Given the description of an element on the screen output the (x, y) to click on. 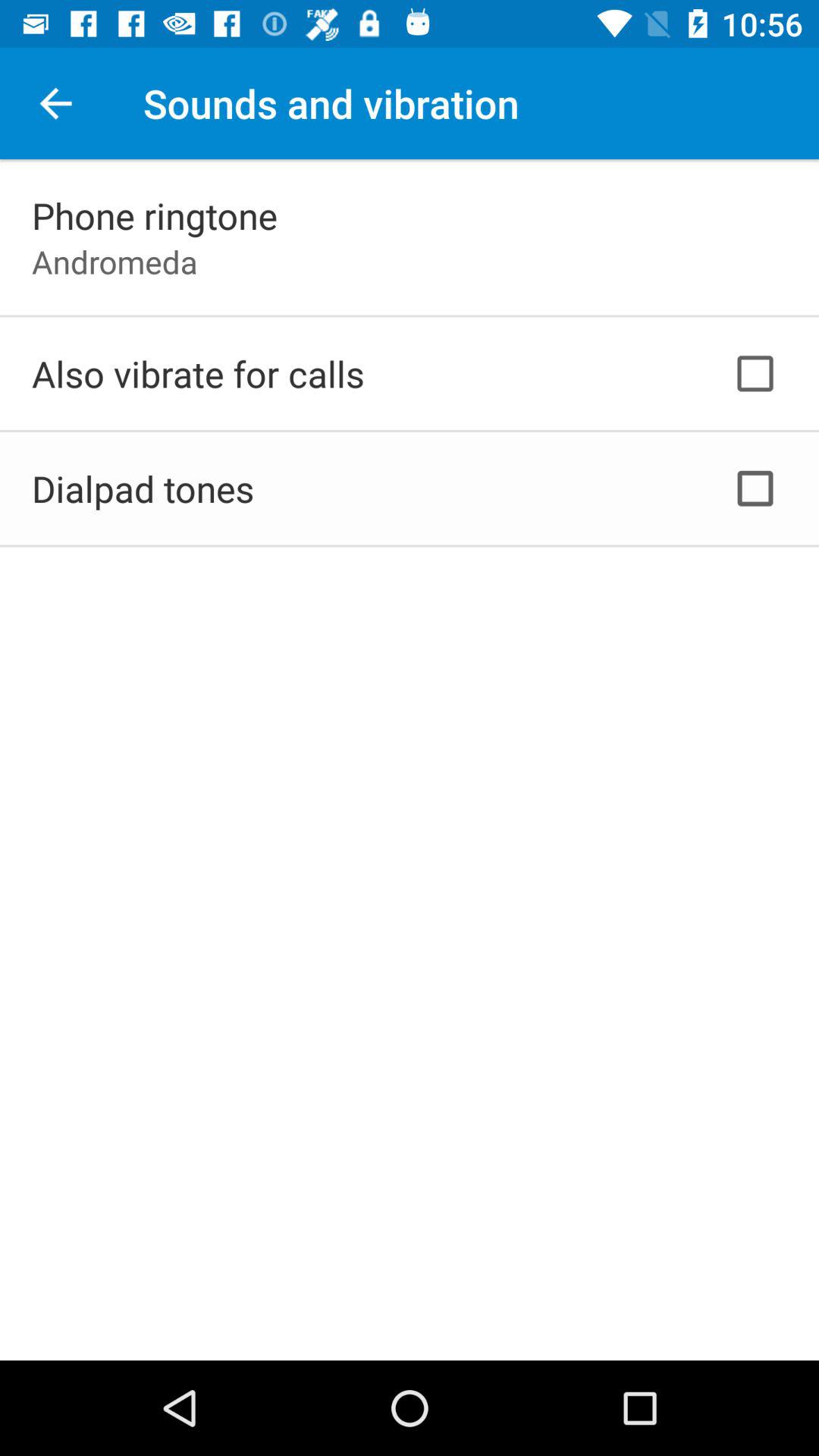
select the item below the phone ringtone app (114, 261)
